Given the description of an element on the screen output the (x, y) to click on. 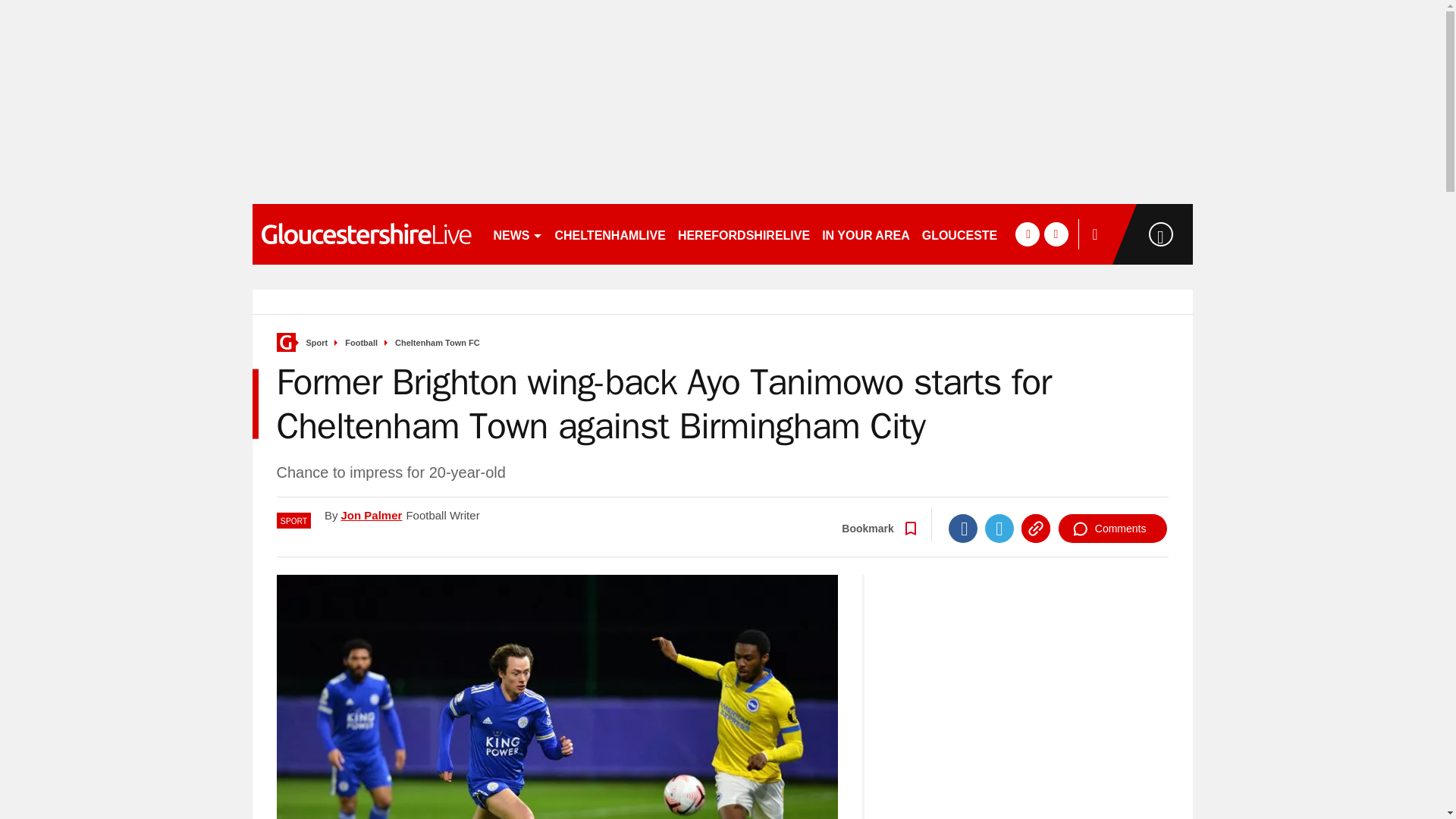
Twitter (999, 528)
CHELTENHAMLIVE (609, 233)
IN YOUR AREA (865, 233)
Comments (1112, 528)
GLOUCESTER NEWS (983, 233)
HEREFORDSHIRELIVE (743, 233)
gloucestershirelive (365, 233)
twitter (1055, 233)
Facebook (962, 528)
NEWS (517, 233)
facebook (1026, 233)
